Given the description of an element on the screen output the (x, y) to click on. 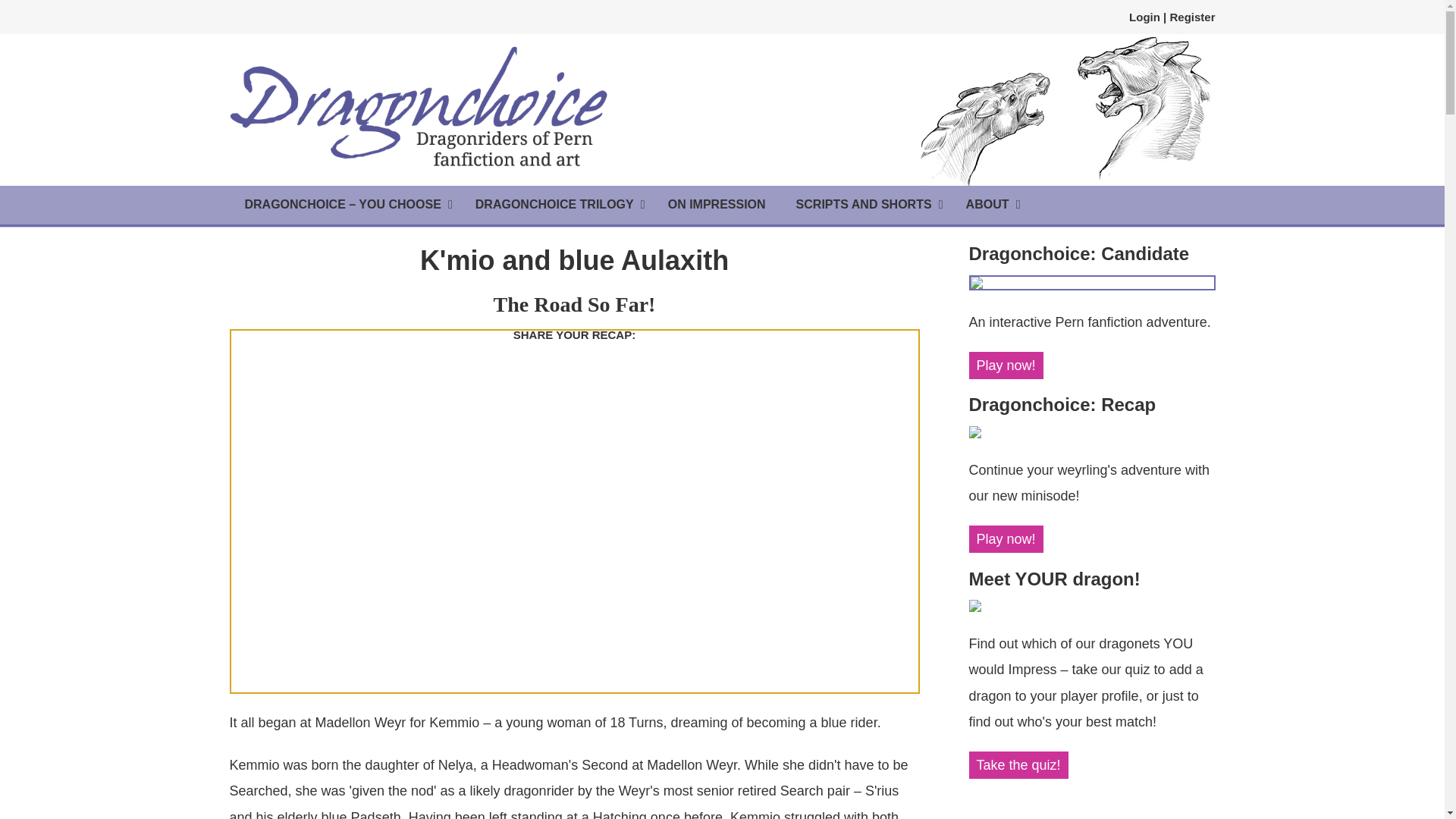
SCRIPTS AND SHORTS (865, 204)
Take the quiz! (1018, 764)
Pernese dragons (1062, 109)
Play now! (1006, 538)
Dragonchoice: Dragonriders of Pern fan fiction and fan art (418, 106)
Play now! (1006, 365)
ON IMPRESSION (716, 204)
ABOUT (988, 204)
DRAGONCHOICE TRILOGY (556, 204)
Login (1144, 16)
